Given the description of an element on the screen output the (x, y) to click on. 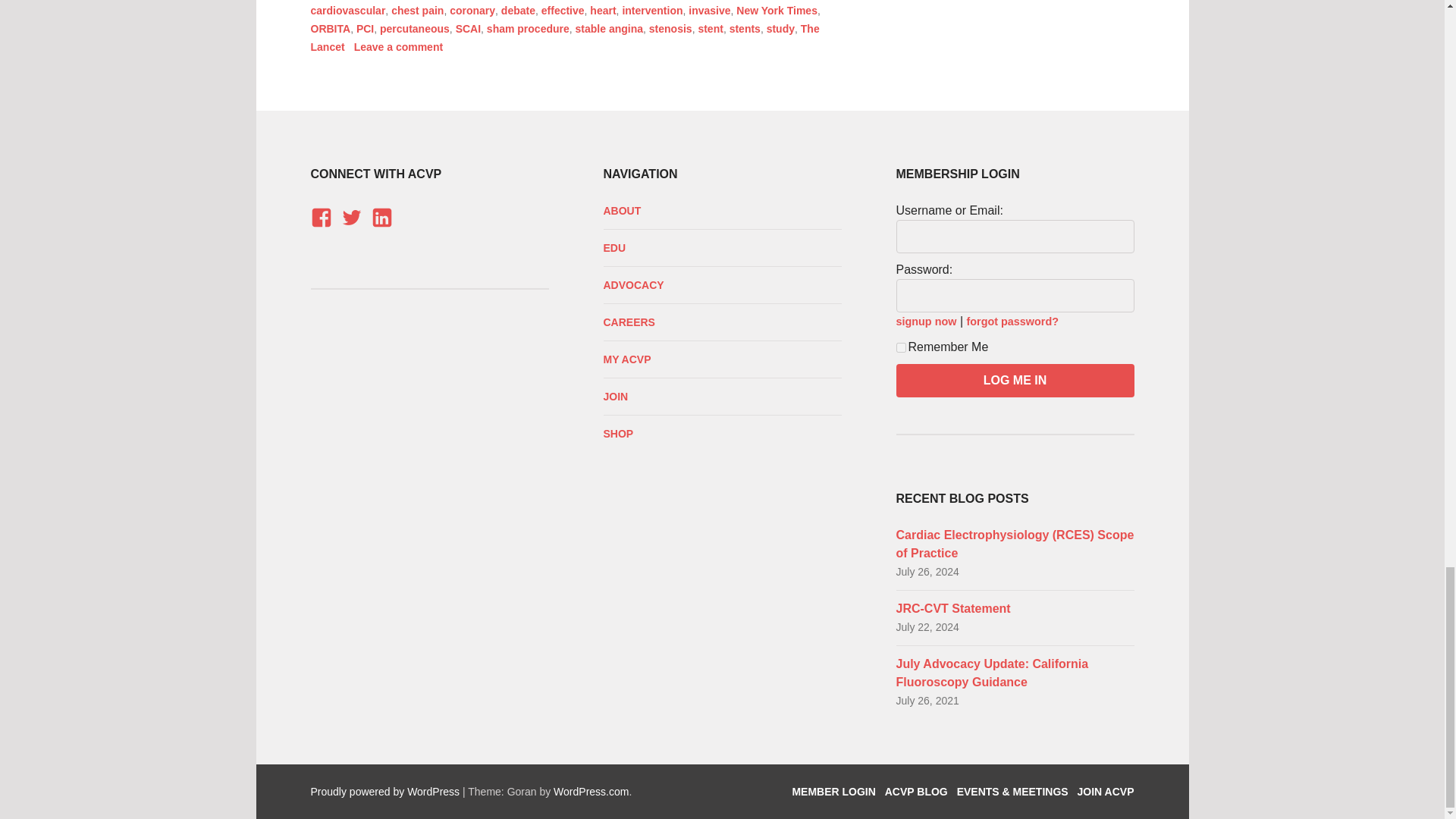
forever (900, 347)
Username (1015, 236)
Password (1015, 295)
Log Me In (1015, 380)
